Given the description of an element on the screen output the (x, y) to click on. 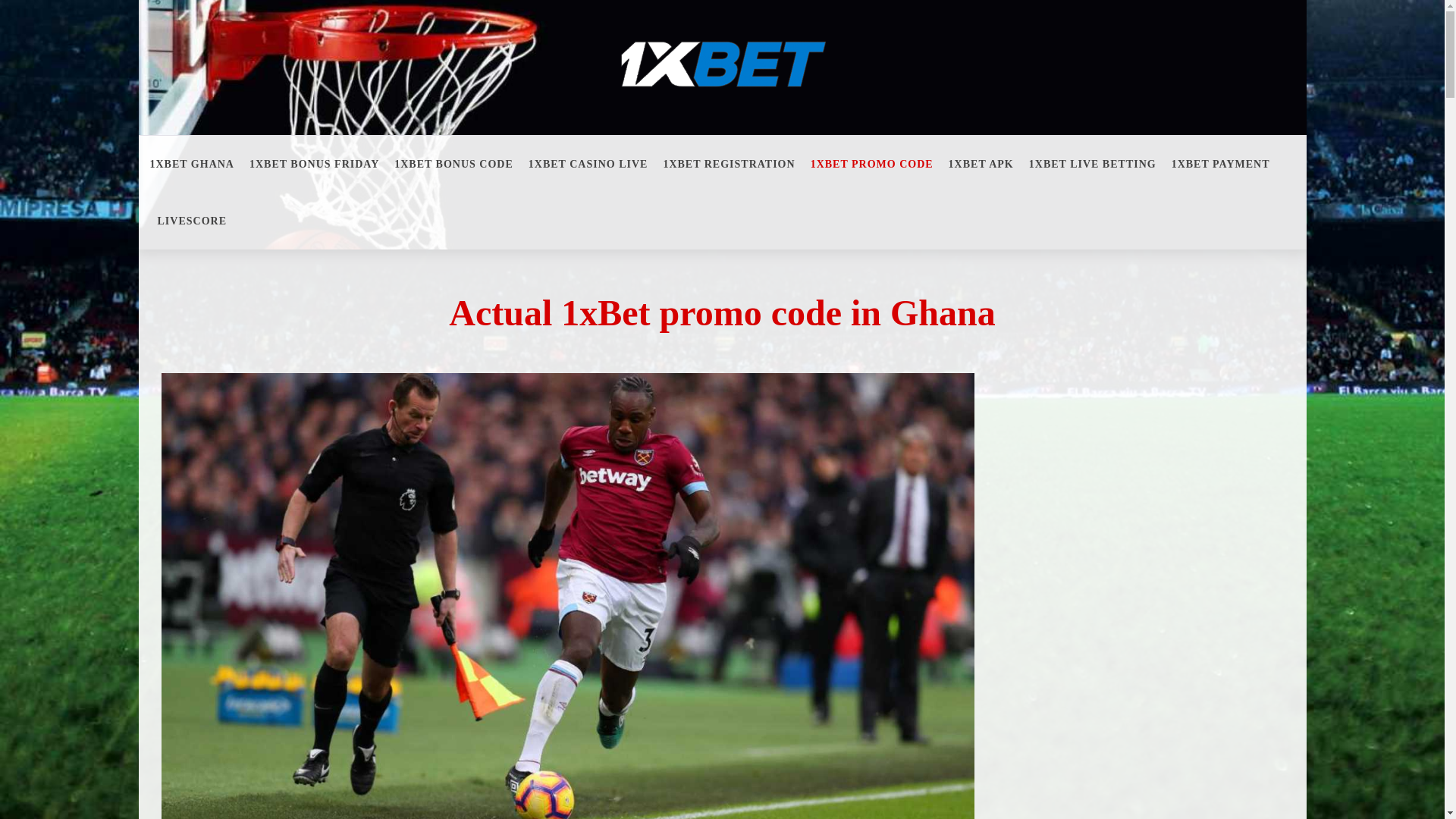
1XBET GHANA Element type: text (195, 163)
1xbetsport-gh.com Element type: text (721, 54)
1XBET CASINO LIVE Element type: text (587, 163)
1XBET REGISTRATION Element type: text (728, 163)
Skip to content Element type: text (138, 0)
1XBET PAYMENT Element type: text (1220, 163)
1XBET BONUS CODE Element type: text (453, 163)
1XBET LIVE BETTING Element type: text (1092, 163)
1XBET PROMO CODE Element type: text (872, 163)
1XBET BONUS FRIDAY Element type: text (313, 163)
1XBET APK Element type: text (981, 163)
LIVESCORE Element type: text (192, 220)
